Given the description of an element on the screen output the (x, y) to click on. 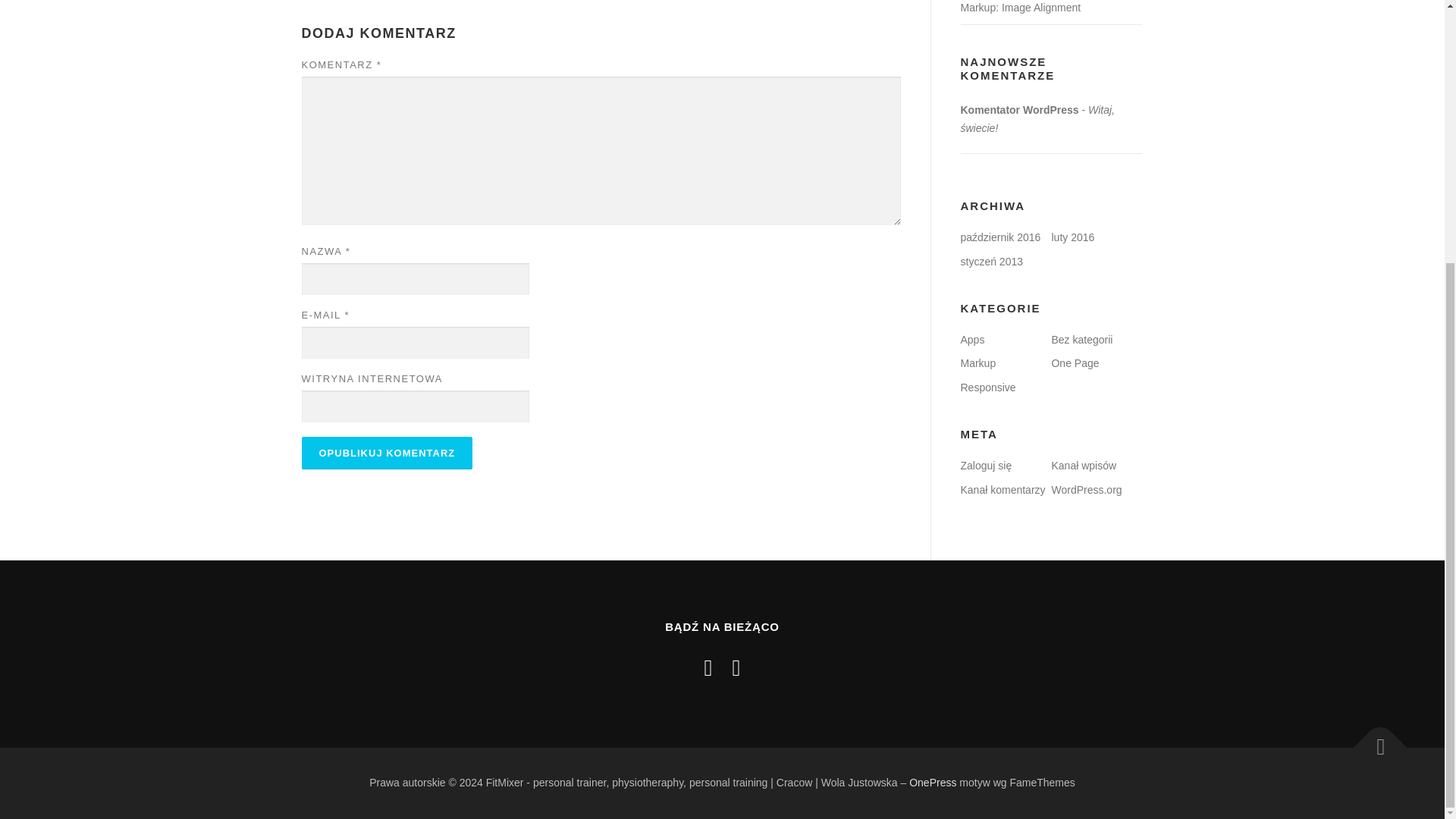
Markup: Image Alignment (1019, 7)
Opublikuj komentarz (387, 452)
Komentator WordPress (1018, 110)
Opublikuj komentarz (387, 452)
Markup (977, 363)
Apps (971, 339)
OnePress (932, 782)
Bez kategorii (1081, 339)
Responsive (986, 387)
One Page (1075, 363)
WordPress.org (1086, 490)
luty 2016 (1072, 236)
